Given the description of an element on the screen output the (x, y) to click on. 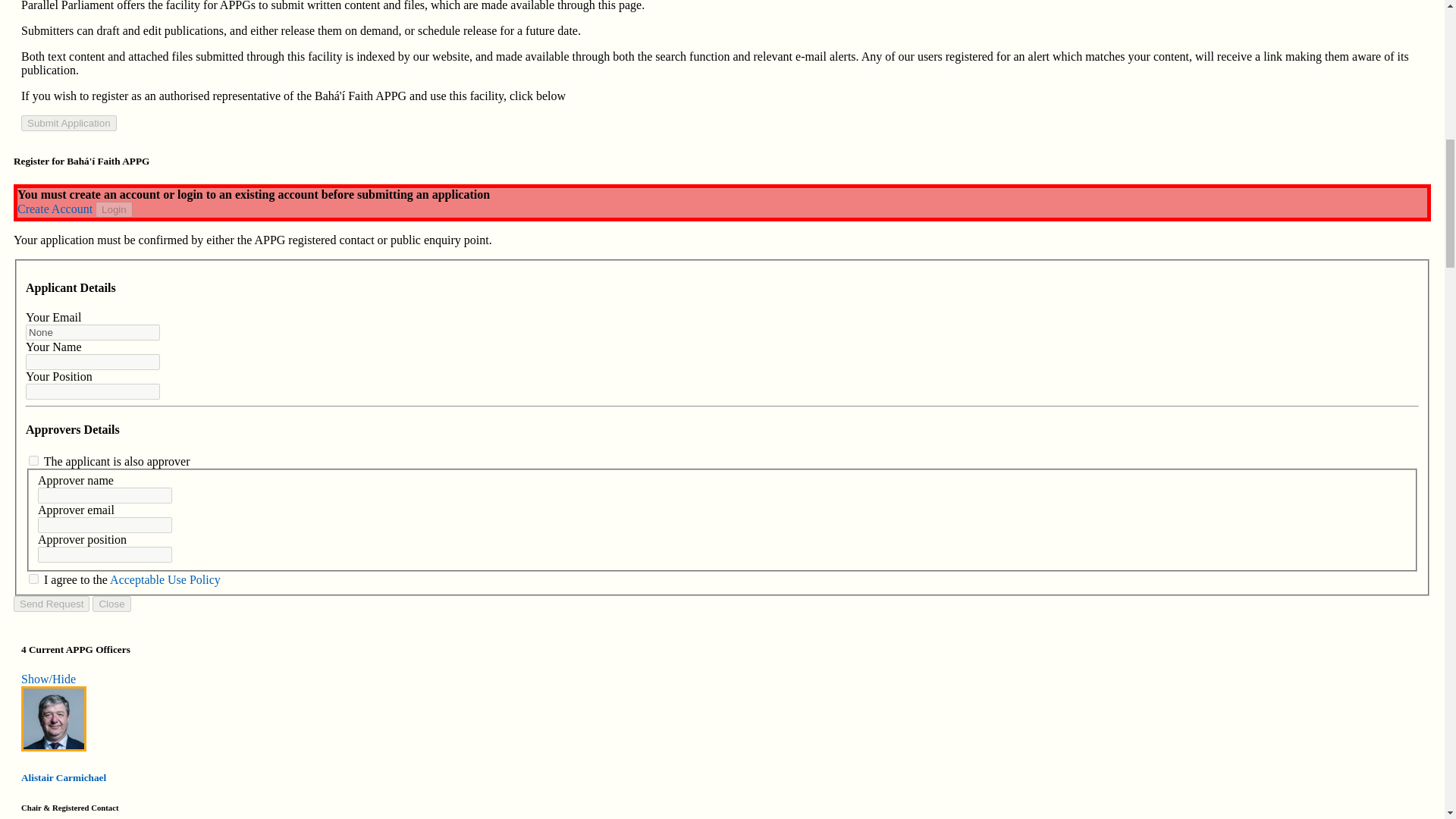
None (93, 332)
on (34, 460)
on (34, 578)
